Given the description of an element on the screen output the (x, y) to click on. 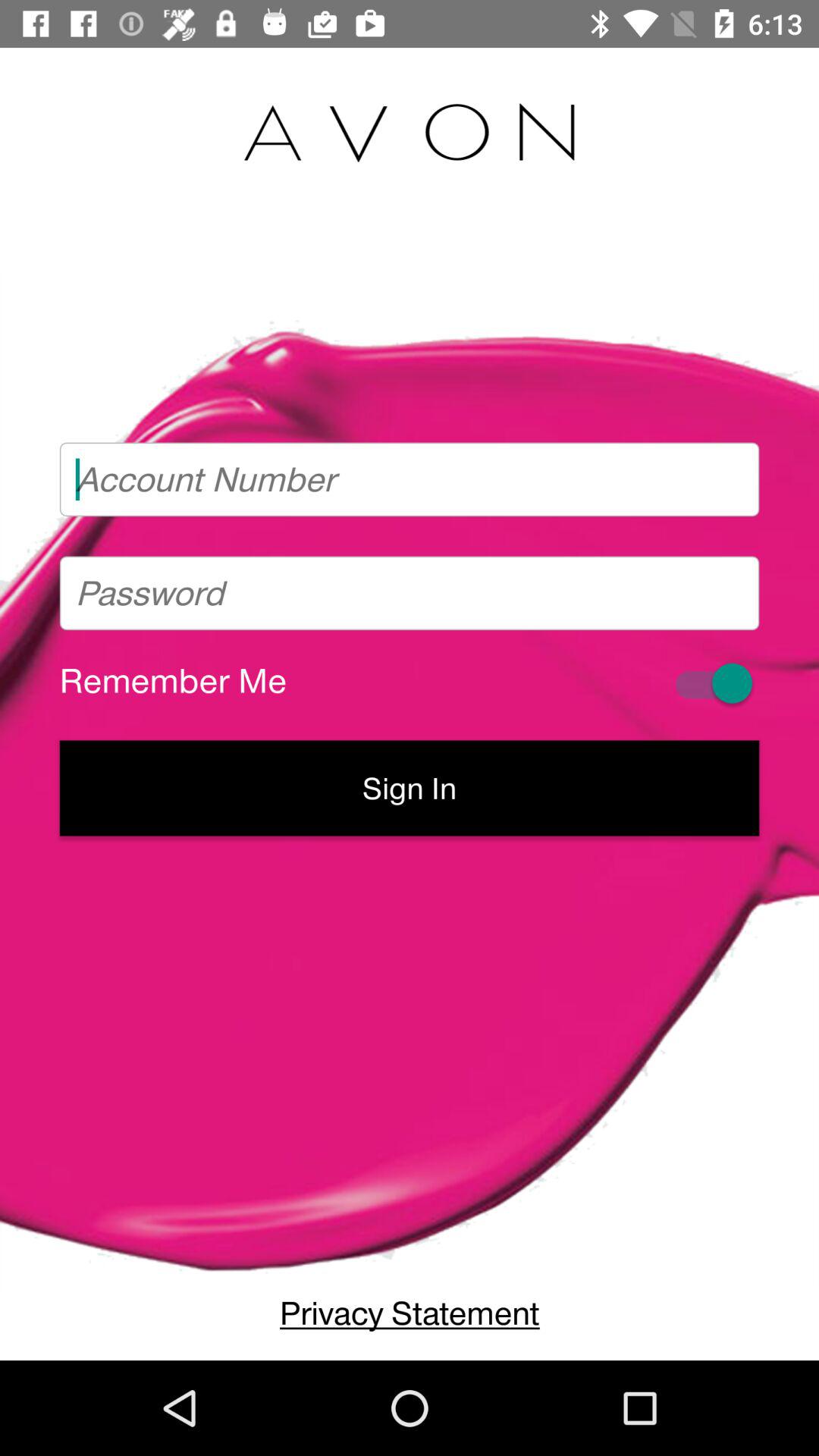
toggle remember me (711, 683)
